Given the description of an element on the screen output the (x, y) to click on. 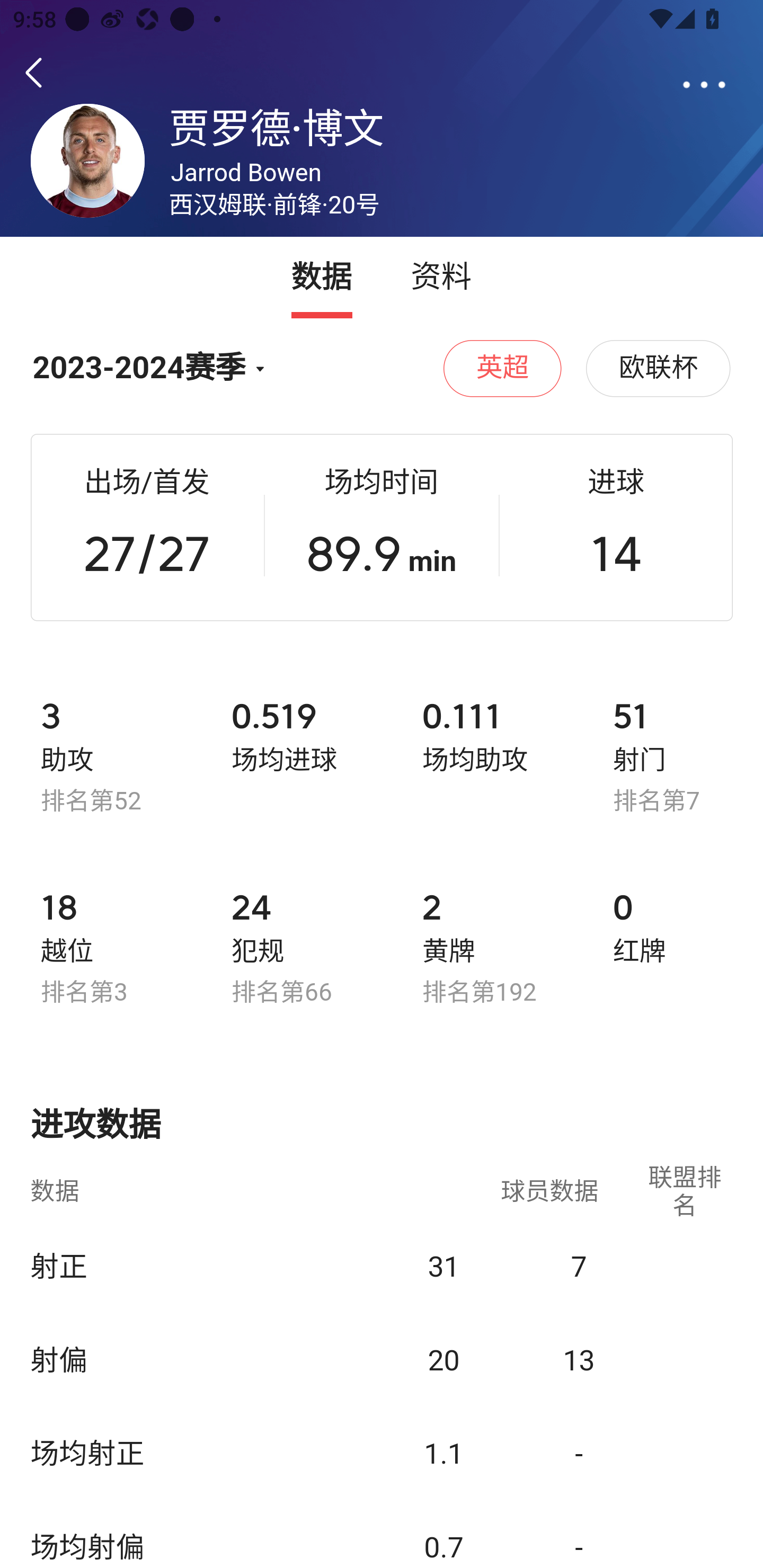
返回，按钮 (37, 72)
数据 (321, 277)
资料 (440, 277)
英超 (503, 367)
欧联杯 (657, 367)
2023-2024赛季 mdpi/Artboard 1 (153, 368)
射正 31 7 (381, 1264)
射偏 20 13 (381, 1358)
场均射正 1.1 - (381, 1452)
场均射偏 0.7 - (381, 1533)
